Given the description of an element on the screen output the (x, y) to click on. 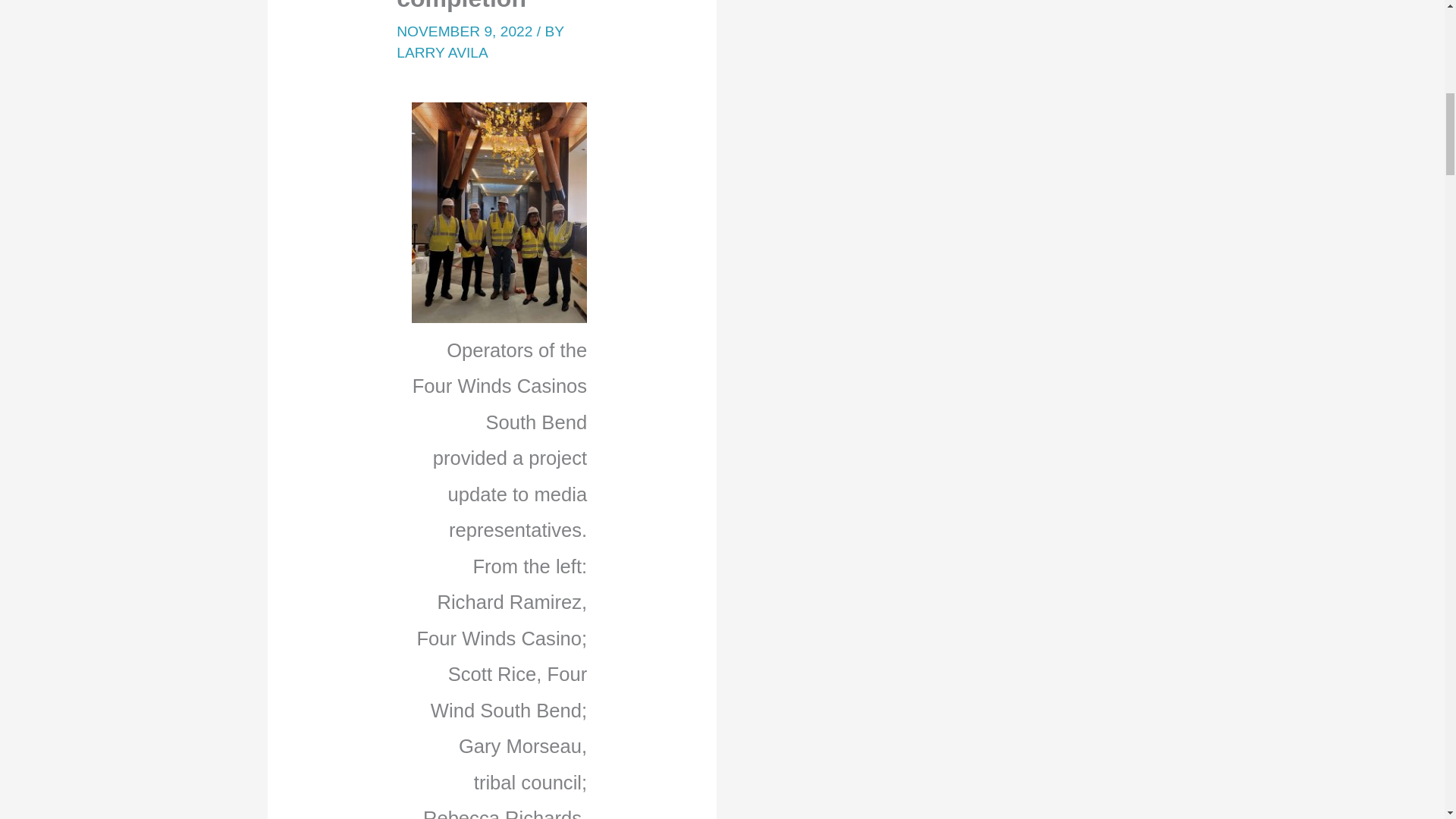
View all posts by Larry Avila (441, 52)
